Given the description of an element on the screen output the (x, y) to click on. 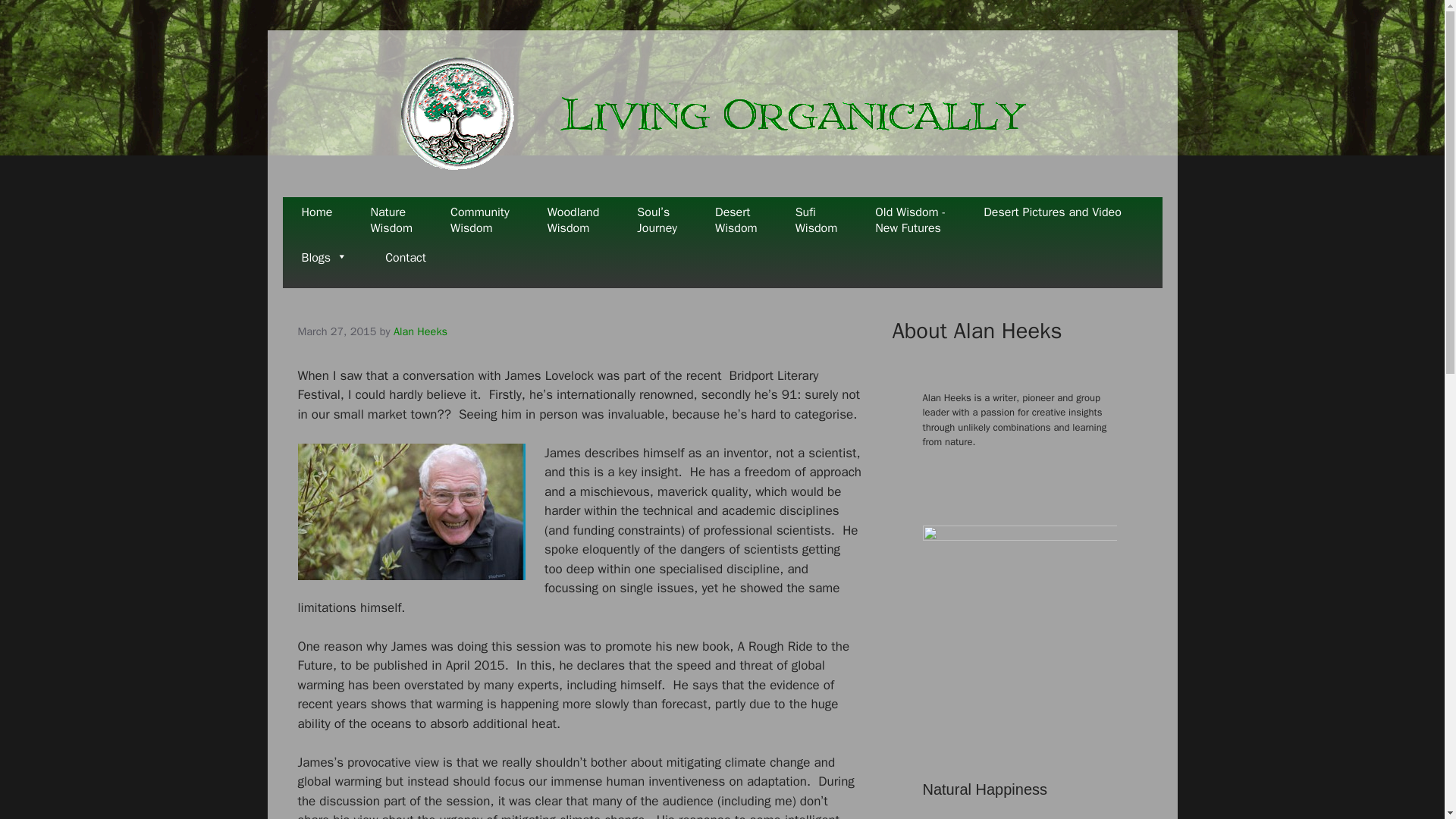
Blogs (735, 219)
Contact (909, 219)
Home (324, 265)
Desert Pictures and Video (405, 265)
View all posts by Alan Heeks (316, 219)
